Given the description of an element on the screen output the (x, y) to click on. 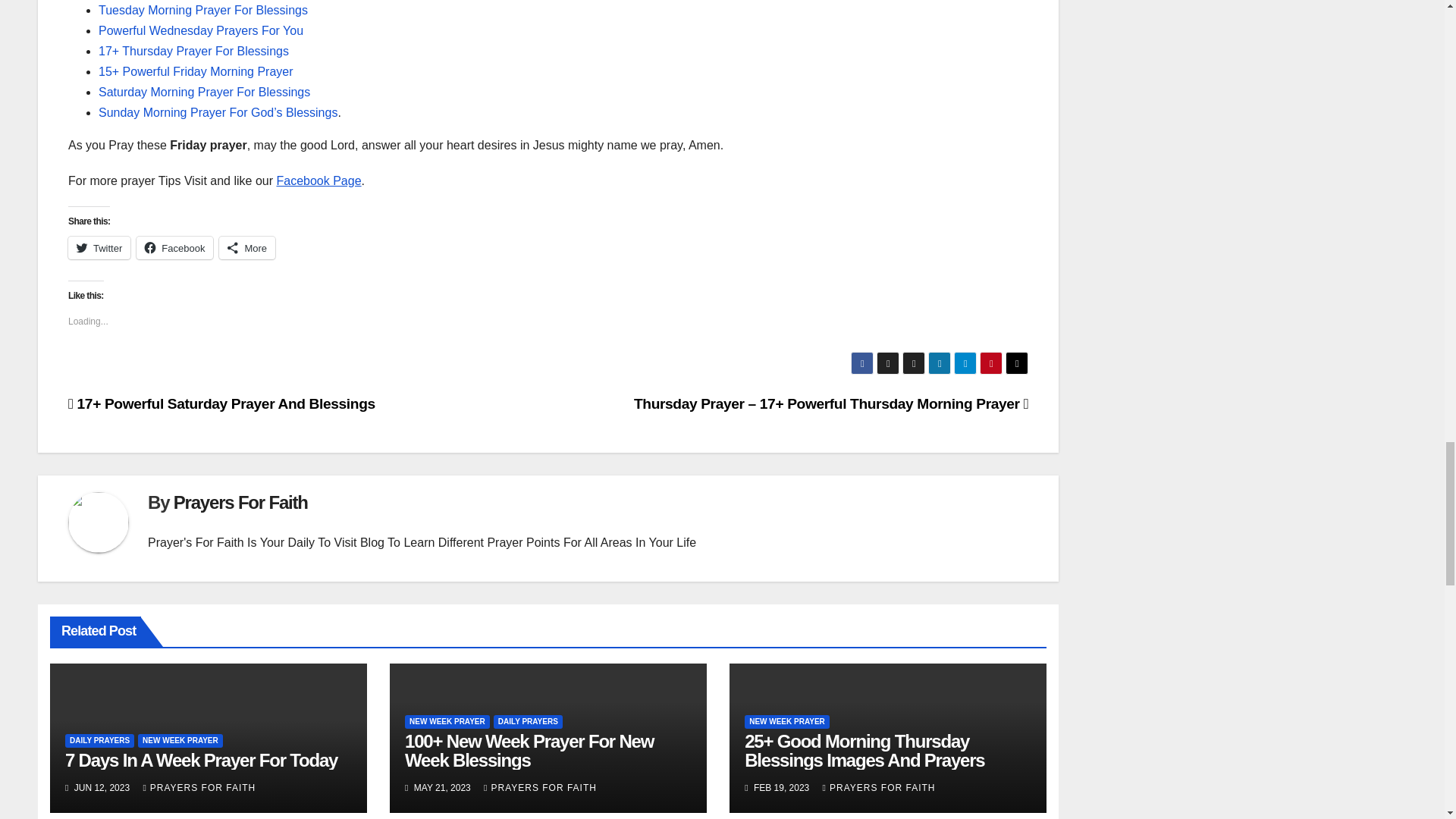
Facebook Page (318, 180)
Saturday Morning Prayer For Blessings (204, 91)
Facebook (174, 247)
Click to share on Facebook (174, 247)
Click to share on Twitter (99, 247)
More (247, 247)
Tuesday Morning Prayer For Blessings (203, 10)
Twitter (99, 247)
Powerful Wednesday Prayers For You (200, 30)
